Given the description of an element on the screen output the (x, y) to click on. 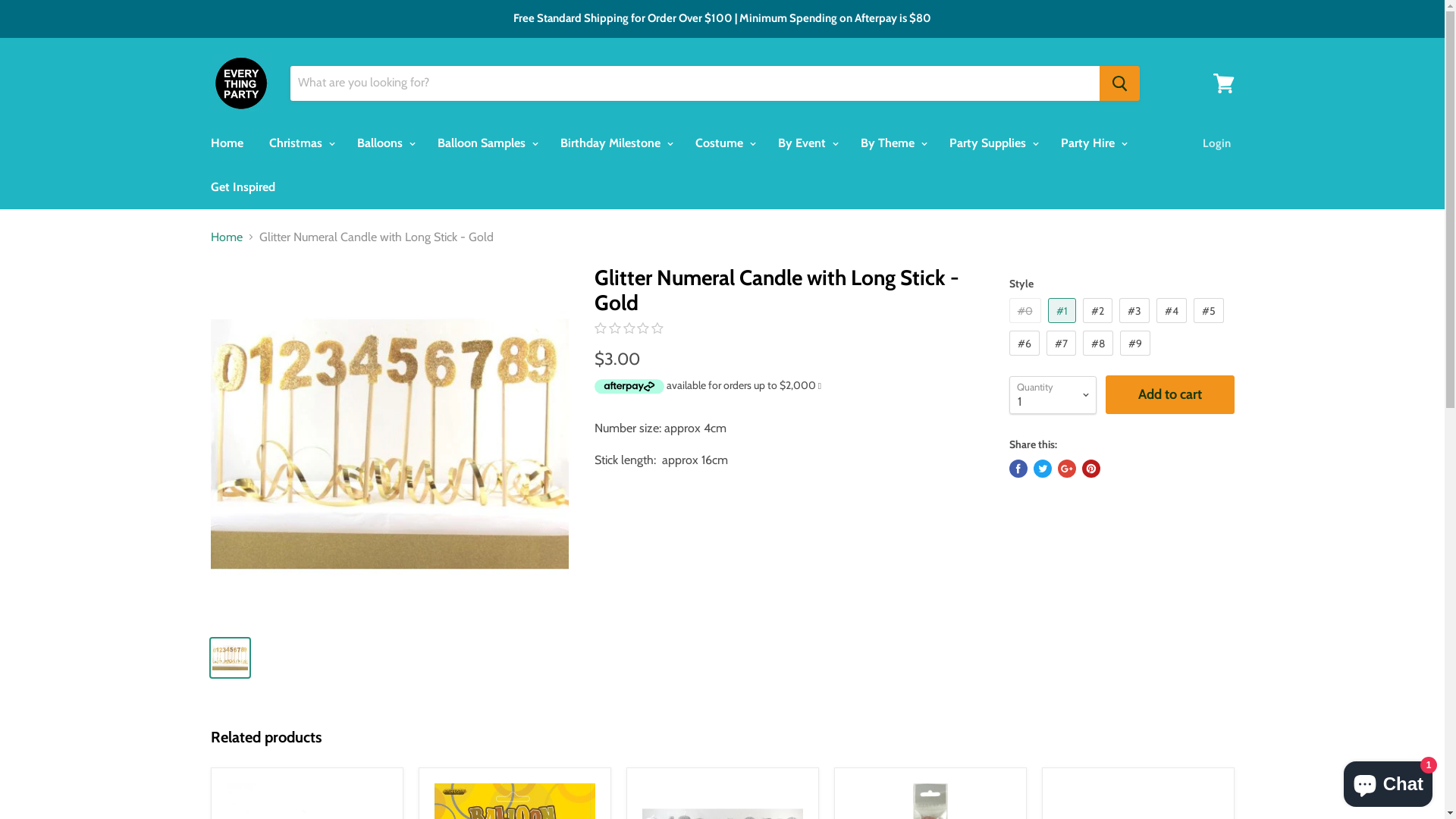
By Event Element type: text (805, 143)
Costume Element type: text (723, 143)
Get Inspired Element type: text (241, 187)
Christmas Element type: text (299, 143)
View cart Element type: text (1223, 82)
Balloons Element type: text (384, 143)
Login Element type: text (1216, 143)
Add to cart Element type: text (1169, 394)
Share on Facebook Element type: text (1017, 468)
By Theme Element type: text (892, 143)
Share on Google+ Element type: text (1066, 468)
Tweet on Twitter Element type: text (1041, 468)
Home Element type: text (226, 237)
Home Element type: text (226, 143)
Balloon Samples Element type: text (486, 143)
Birthday Milestone Element type: text (614, 143)
Party Hire Element type: text (1092, 143)
Pin on Pinterest Element type: text (1090, 468)
Shopify online store chat Element type: hover (1388, 780)
Party Supplies Element type: text (991, 143)
